Given the description of an element on the screen output the (x, y) to click on. 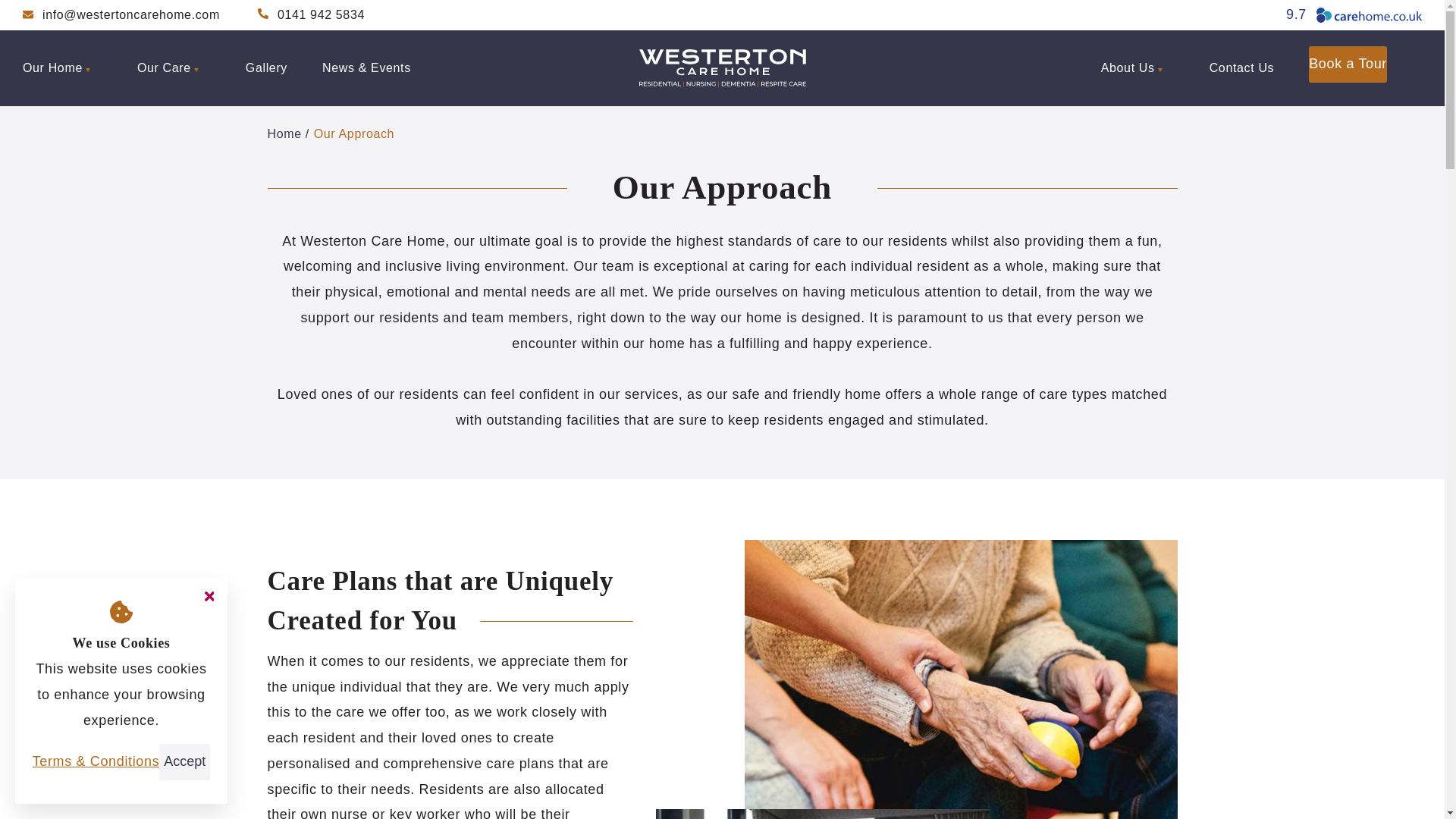
Book a Tour (1347, 63)
About Us (1137, 68)
Gallery (266, 68)
Our Home (62, 68)
0141 942 5834 (311, 15)
Contact Us (1242, 68)
9.7 (1353, 14)
Our Care (173, 68)
